Given the description of an element on the screen output the (x, y) to click on. 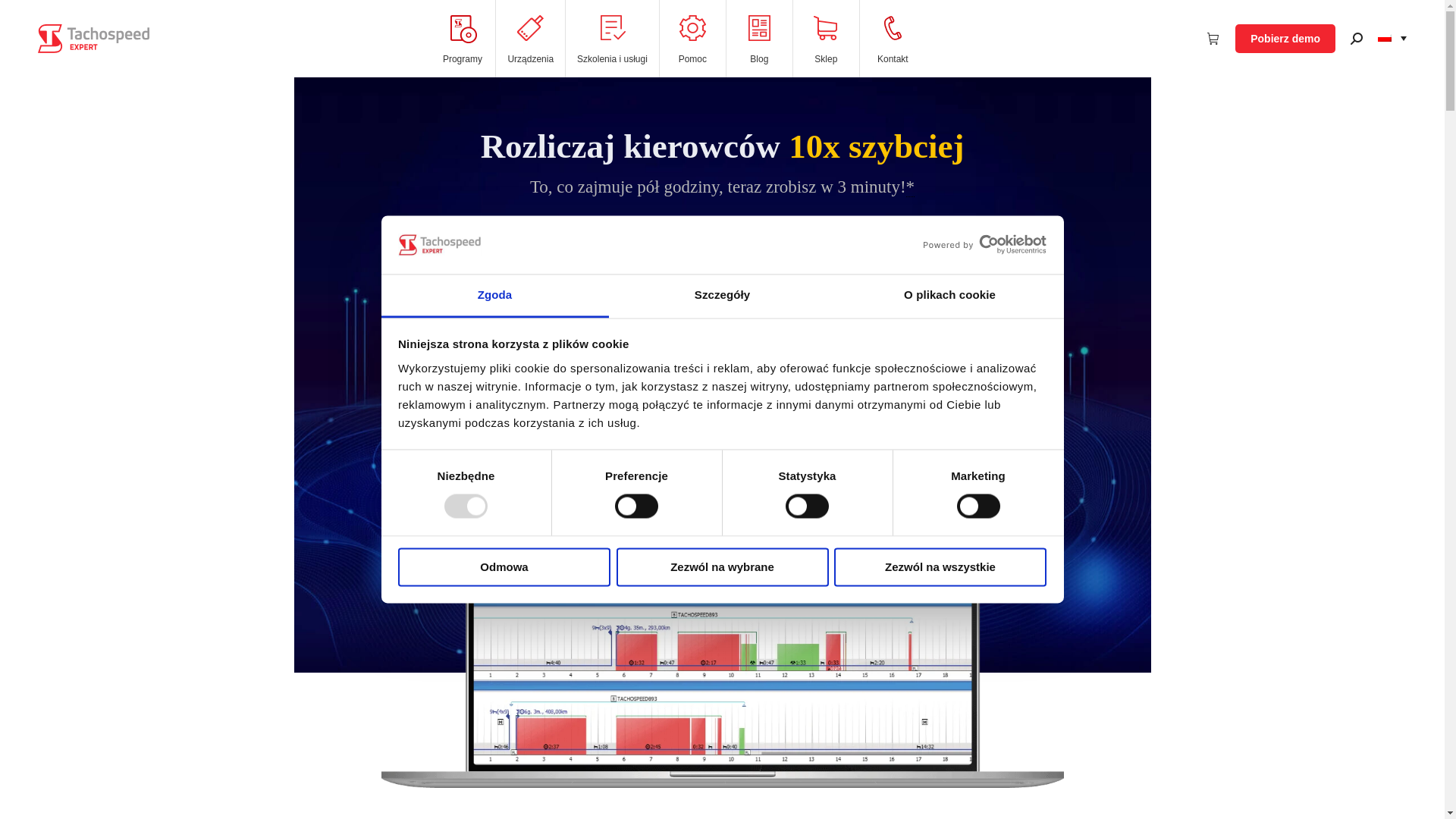
O plikach cookie Element type: text (949, 295)
Pomoc Element type: text (691, 38)
Zgoda Element type: text (494, 295)
Odmowa Element type: text (504, 566)
Kontakt Element type: text (892, 38)
Blog Element type: text (758, 38)
Programy Element type: text (462, 38)
  Element type: text (1213, 38)
Sklep Element type: text (825, 38)
Testuj za darmo Element type: text (664, 338)
Pobierz demo Element type: text (1285, 38)
